Given the description of an element on the screen output the (x, y) to click on. 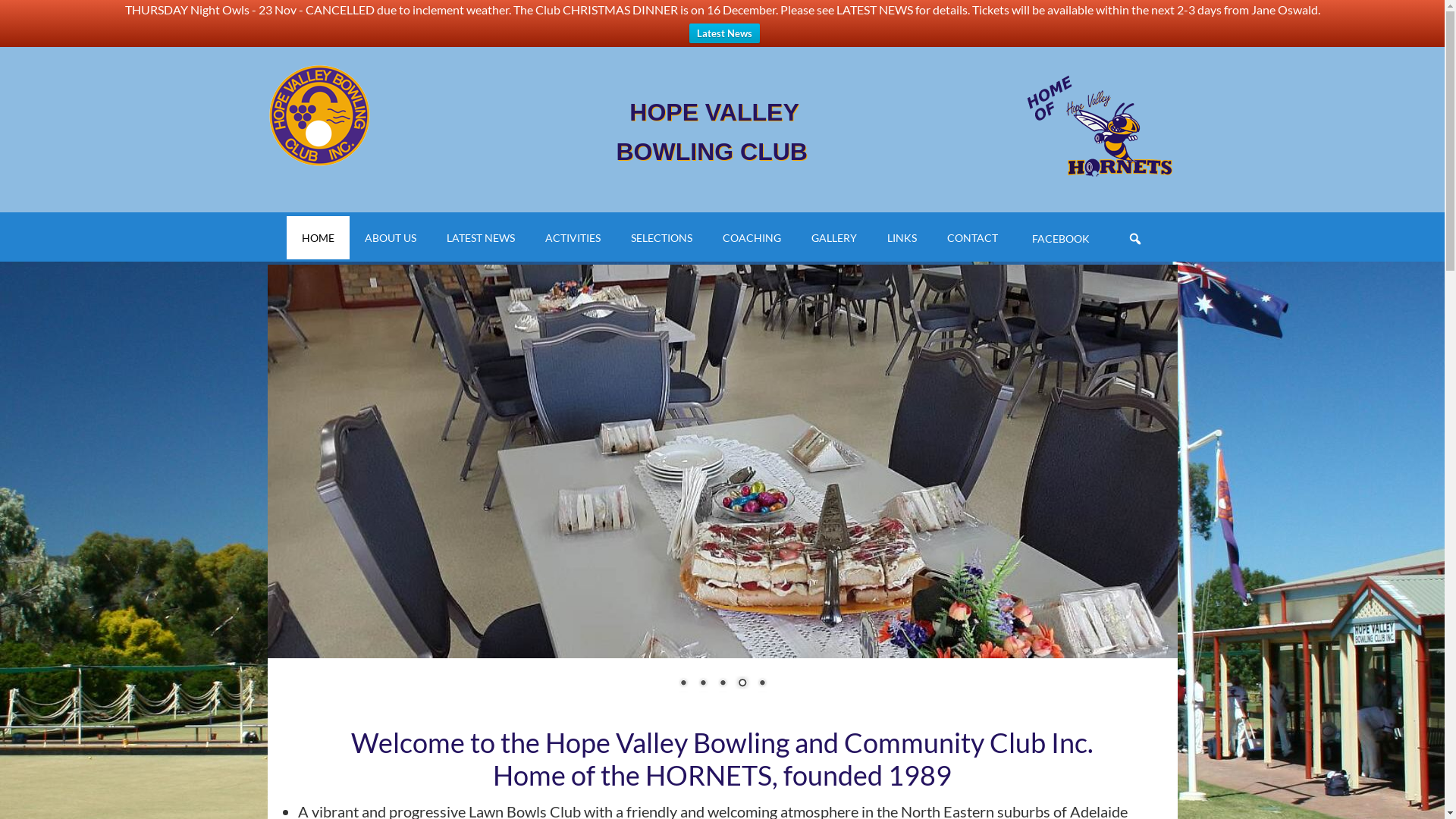
LINKS Element type: text (901, 237)
COACHING Element type: text (751, 237)
5 Element type: text (761, 683)
1 Element type: text (682, 683)
GALLERY Element type: text (834, 237)
LATEST NEWS Element type: text (480, 237)
HOME Element type: text (317, 237)
ABOUT US Element type: text (390, 237)
ACTIVITIES Element type: text (572, 237)
SELECTIONS Element type: text (661, 237)
Search Element type: text (1157, 226)
2 Element type: text (702, 683)
FACEBOOK Element type: text (1058, 237)
4 Element type: text (742, 683)
3 Element type: text (722, 683)
Latest News Element type: text (723, 33)
HOPE VALLEY BOWLING AND COMMUNITY CLUB Element type: text (395, 115)
CONTACT Element type: text (972, 237)
